Given the description of an element on the screen output the (x, y) to click on. 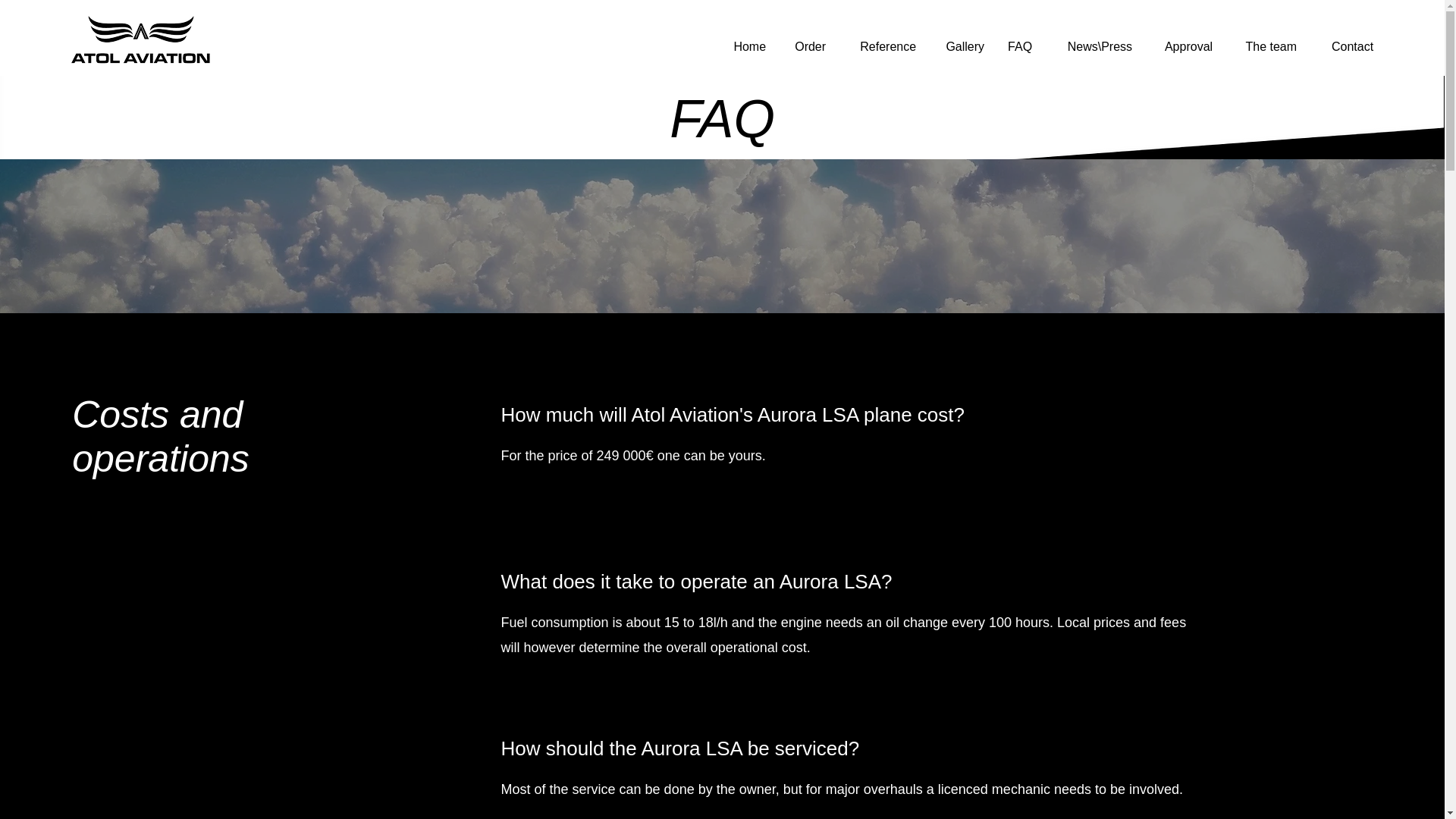
FAQ (1019, 46)
Contact (1345, 46)
Home (747, 46)
Order (807, 46)
The team (1265, 46)
Reference (882, 46)
Approval (1183, 46)
Gallery (961, 46)
